Given the description of an element on the screen output the (x, y) to click on. 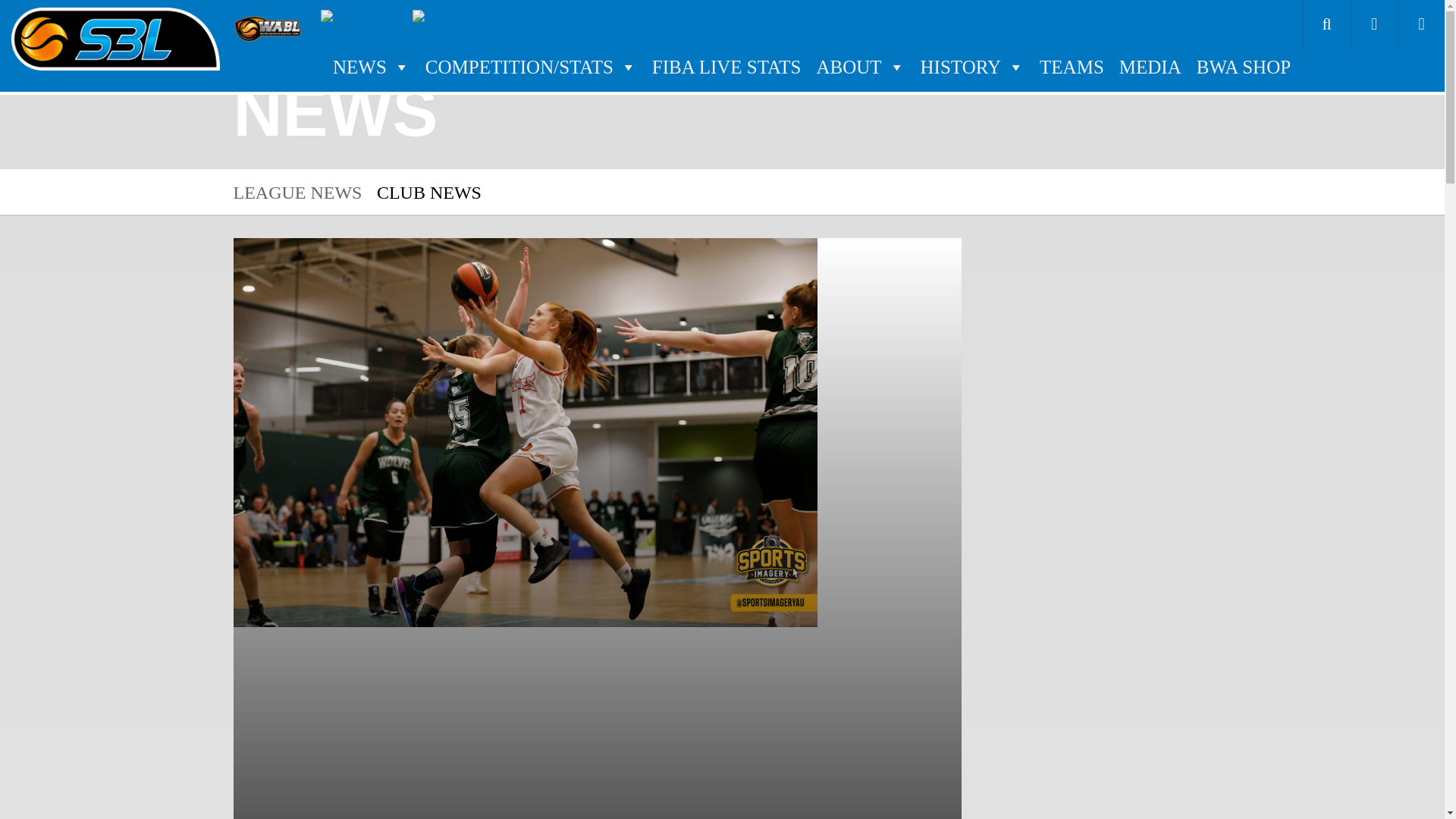
CLUB NEWS (429, 192)
HISTORY (972, 67)
Basketball WA Country (362, 22)
ABOUT (859, 67)
FIBA LIVE STATS (727, 67)
Facebook (1374, 24)
MEDIA (1149, 67)
SBL (115, 39)
BWA SHOP (1243, 67)
NEWS (371, 67)
